Given the description of an element on the screen output the (x, y) to click on. 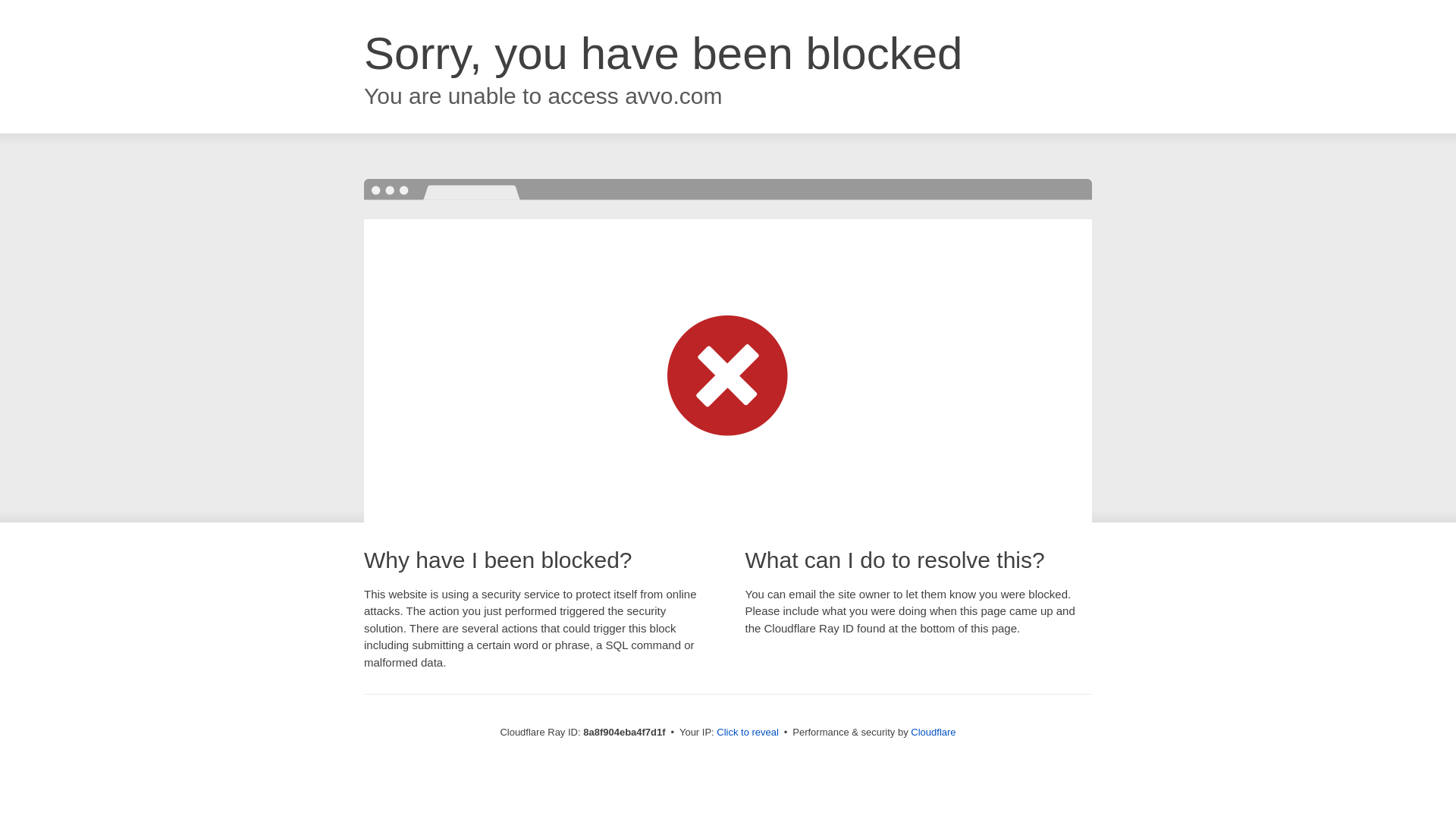
Cloudflare (933, 731)
Click to reveal (747, 732)
